Given the description of an element on the screen output the (x, y) to click on. 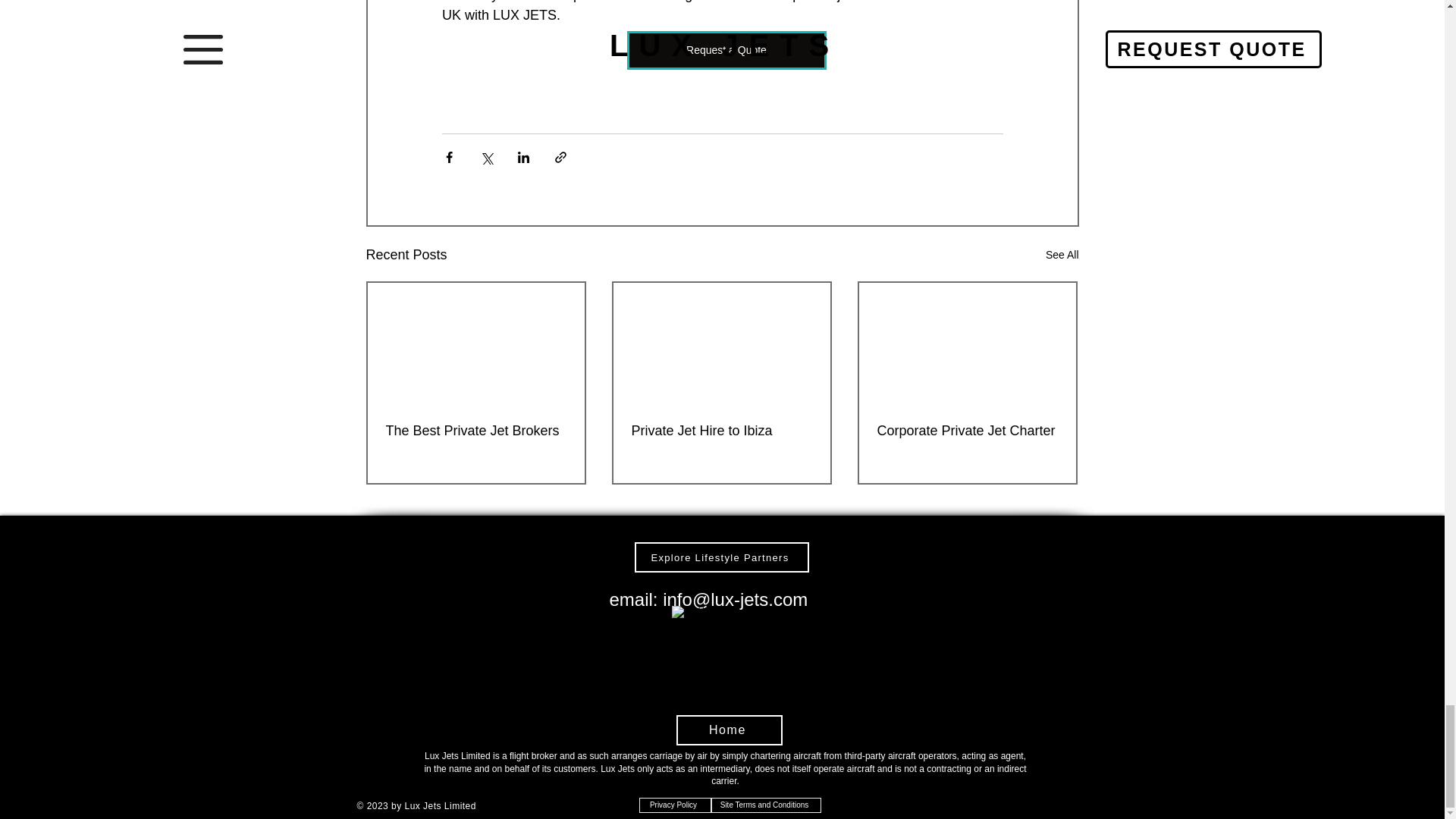
Site Terms and Conditions (766, 805)
Privacy Policy (674, 805)
Request a Quote (725, 50)
Explore Lifestyle Partners (720, 557)
See All (1061, 255)
Corporate Private Jet Charter (966, 430)
The Best Private Jet Brokers (475, 430)
Home (730, 729)
Private Jet Hire to Ibiza (720, 430)
